Given the description of an element on the screen output the (x, y) to click on. 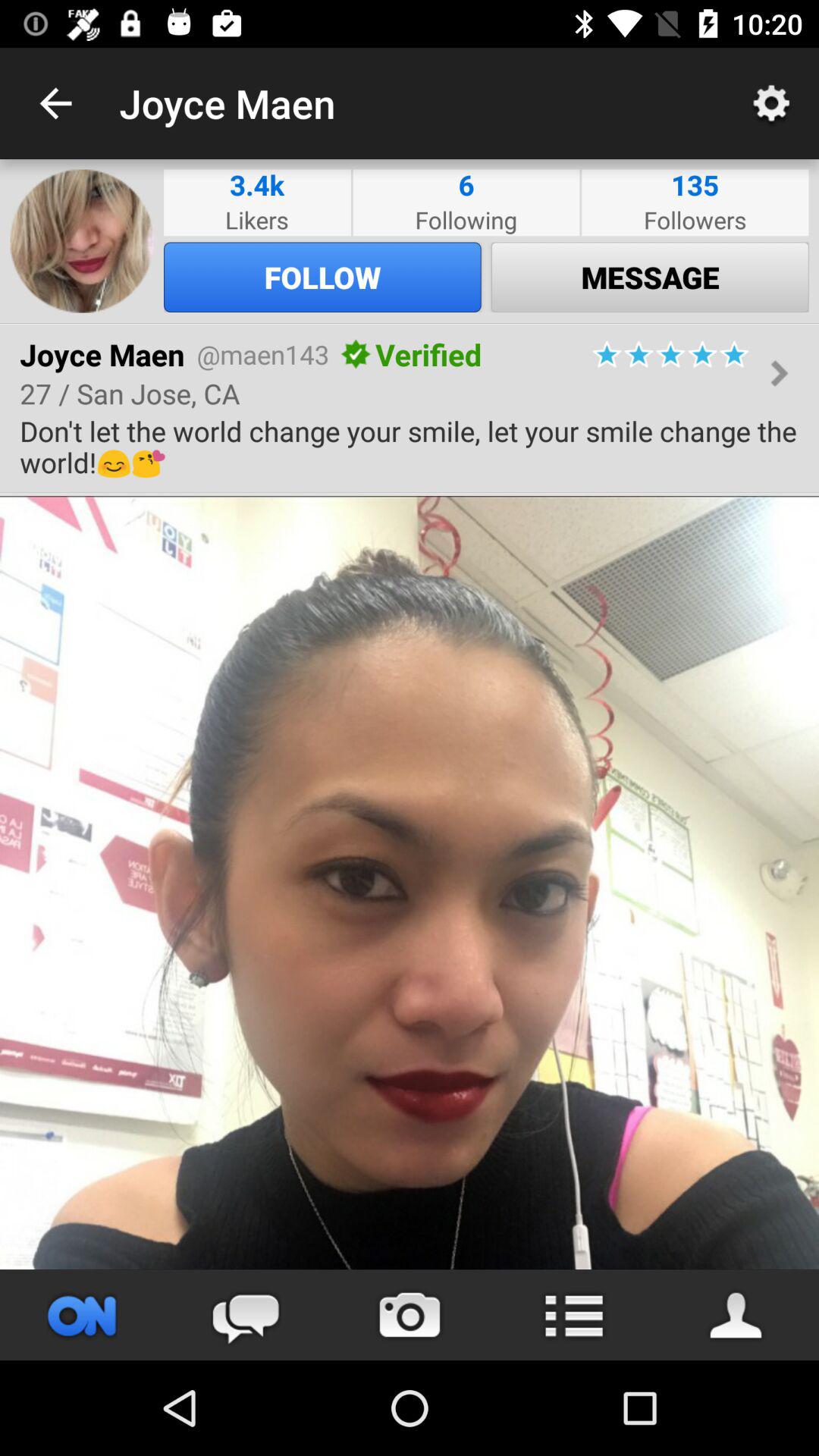
menu option (573, 1315)
